Given the description of an element on the screen output the (x, y) to click on. 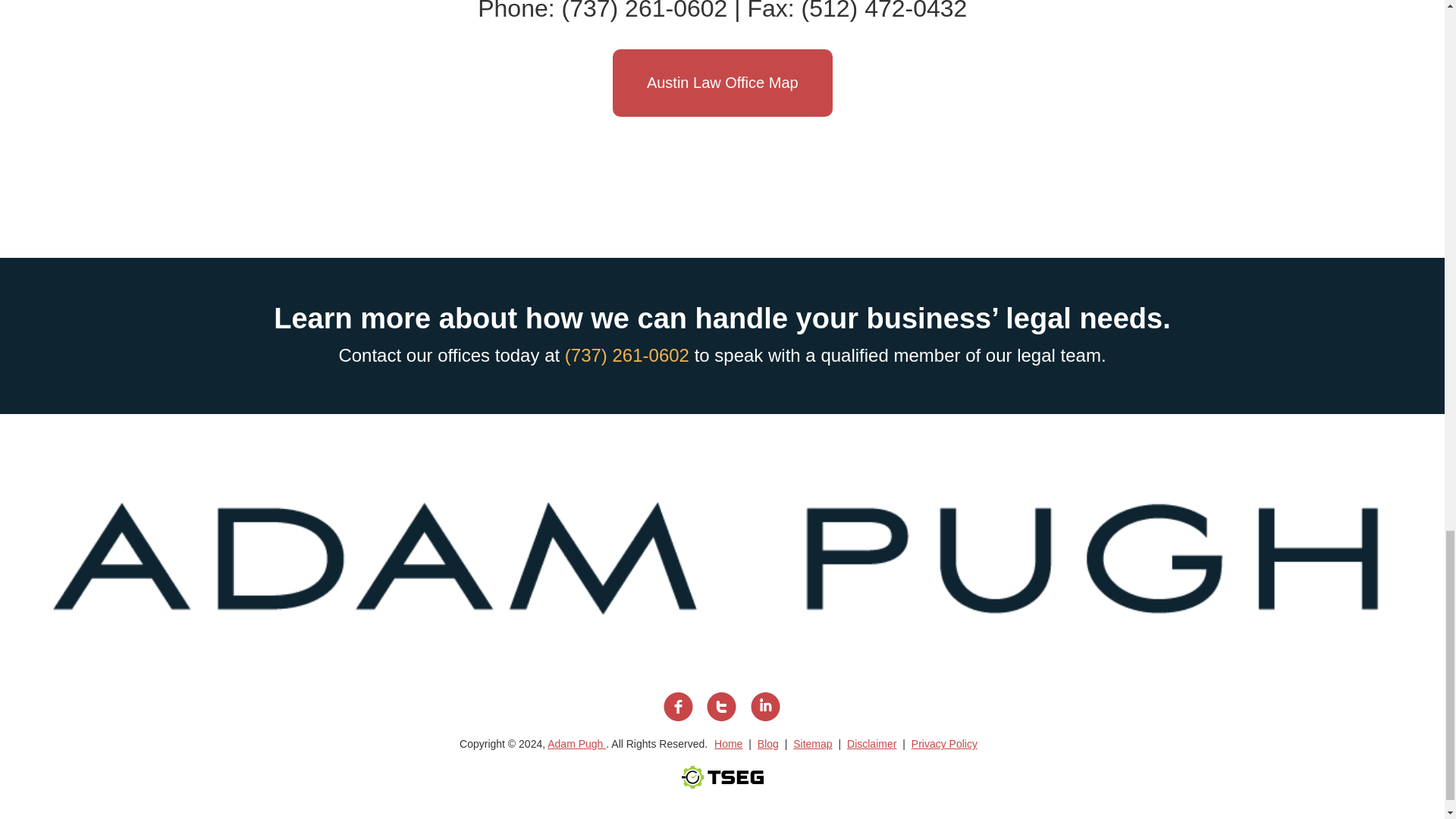
Austin Law Office Map (722, 83)
